Given the description of an element on the screen output the (x, y) to click on. 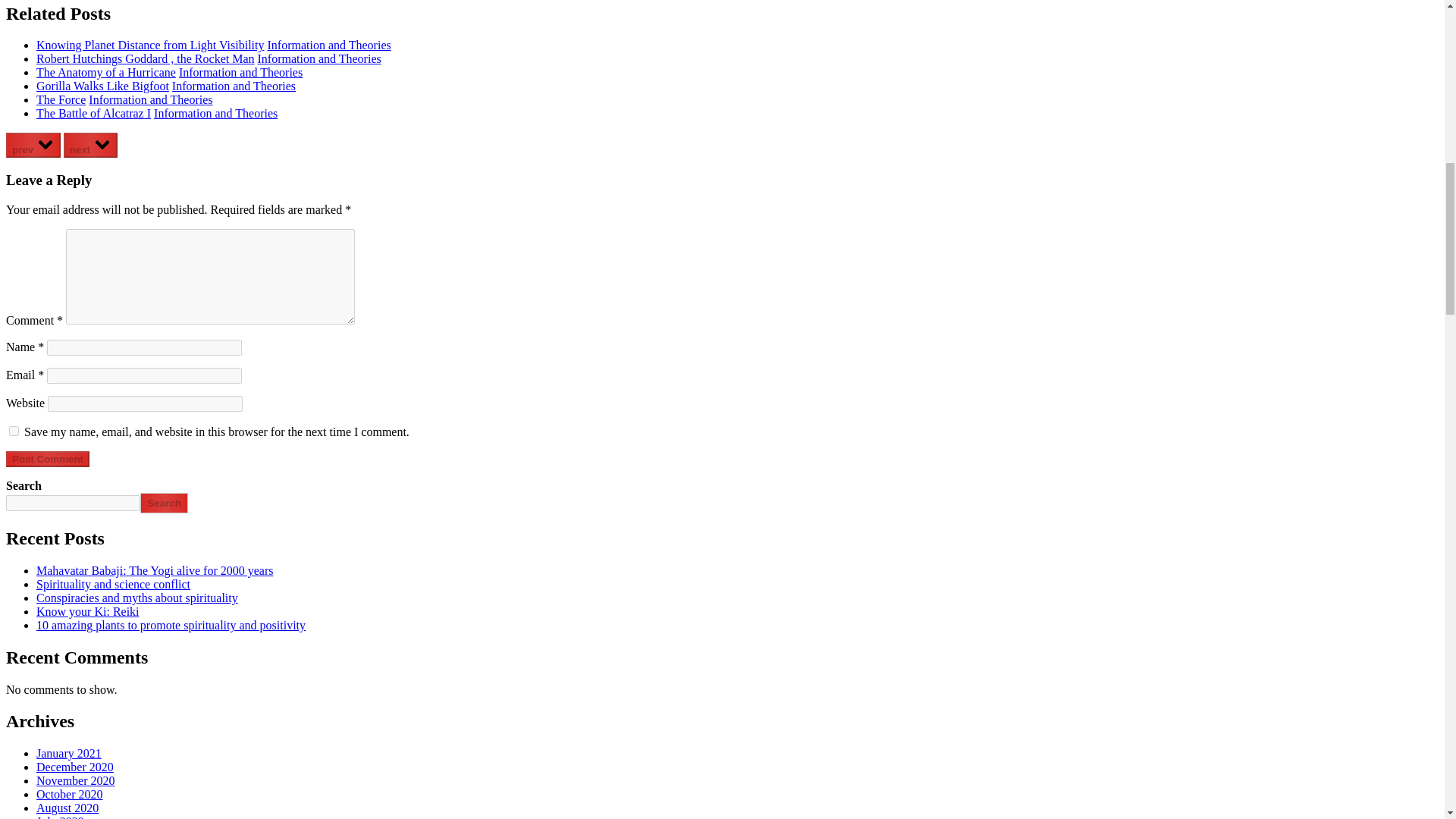
The Force (60, 99)
Post Comment (46, 458)
Information and Theories (233, 85)
yes (13, 430)
Information and Theories (319, 58)
prev (33, 145)
Information and Theories (216, 113)
Information and Theories (150, 99)
The Battle of Alcatraz I (93, 113)
Knowing Planet Distance from Light Visibility (150, 44)
Information and Theories (328, 44)
Robert Hutchings Goddard , the Rocket Man (145, 58)
The Anatomy of a Hurricane (106, 72)
Information and Theories (240, 72)
Gorilla Walks Like Bigfoot (102, 85)
